Given the description of an element on the screen output the (x, y) to click on. 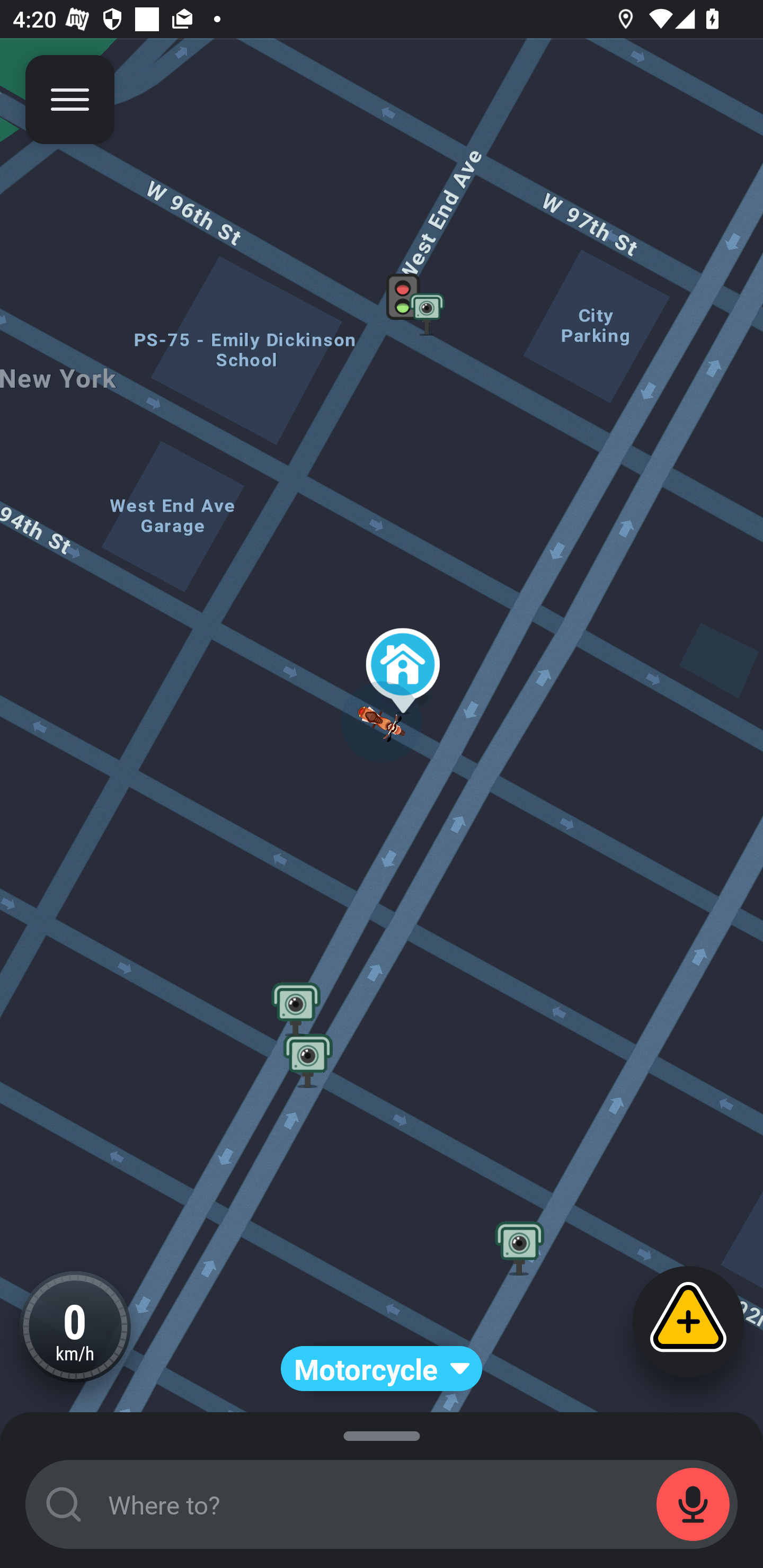
Motorcycle (381, 1368)
SUGGESTIONS_SHEET_DRAG_HANDLE (381, 1432)
START_STATE_SEARCH_FIELD Where to? (381, 1504)
